Given the description of an element on the screen output the (x, y) to click on. 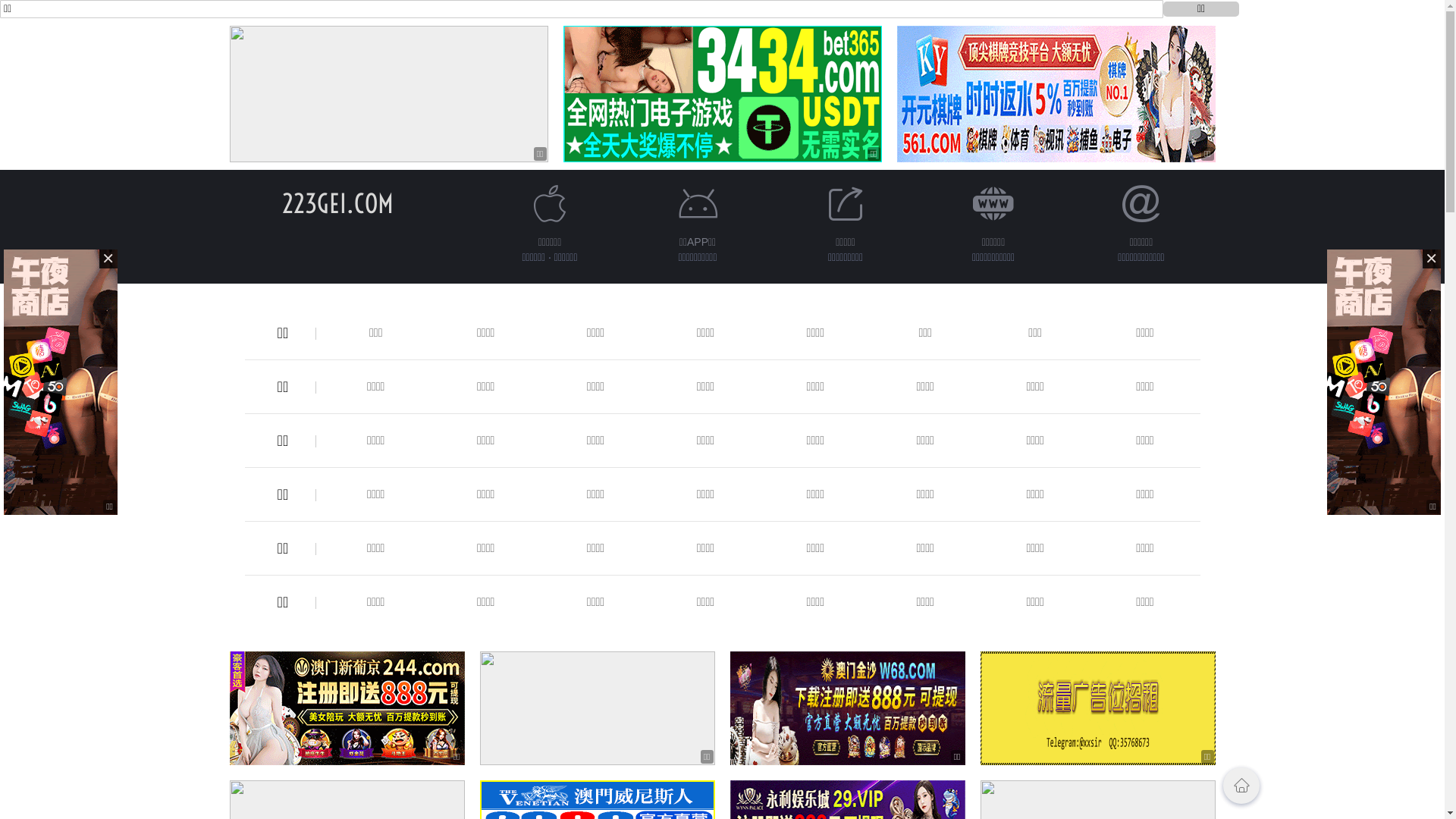
223GEI.COM Element type: text (337, 203)
